Given the description of an element on the screen output the (x, y) to click on. 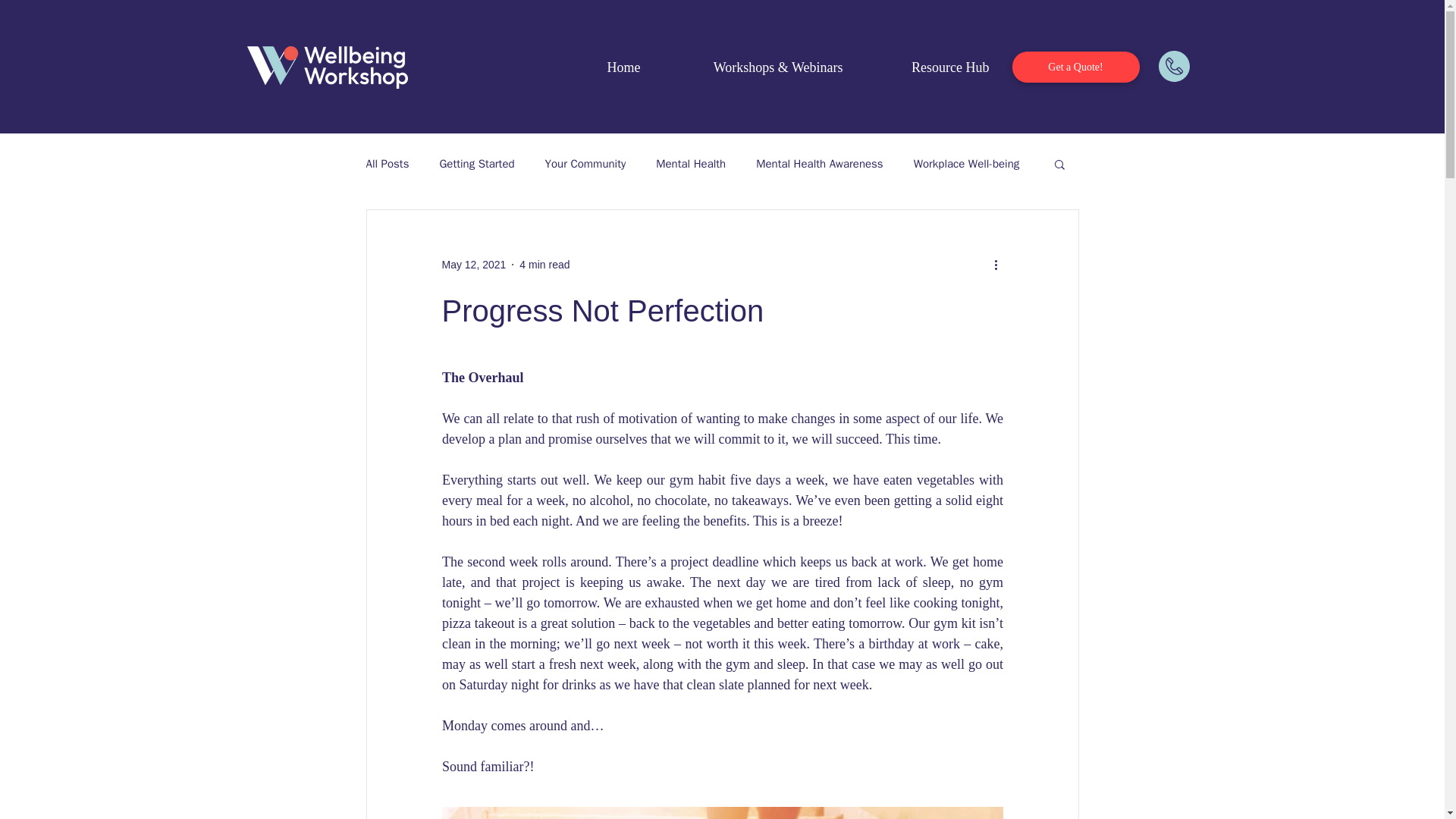
Resource Hub (926, 67)
Getting Started (476, 163)
Mental Health (690, 163)
Workplace Well-being (967, 163)
Mental Health Awareness (818, 163)
All Posts (387, 163)
Home (601, 67)
May 12, 2021 (473, 263)
Get a Quote! (1074, 66)
Your Community (585, 163)
4 min read (544, 263)
